Given the description of an element on the screen output the (x, y) to click on. 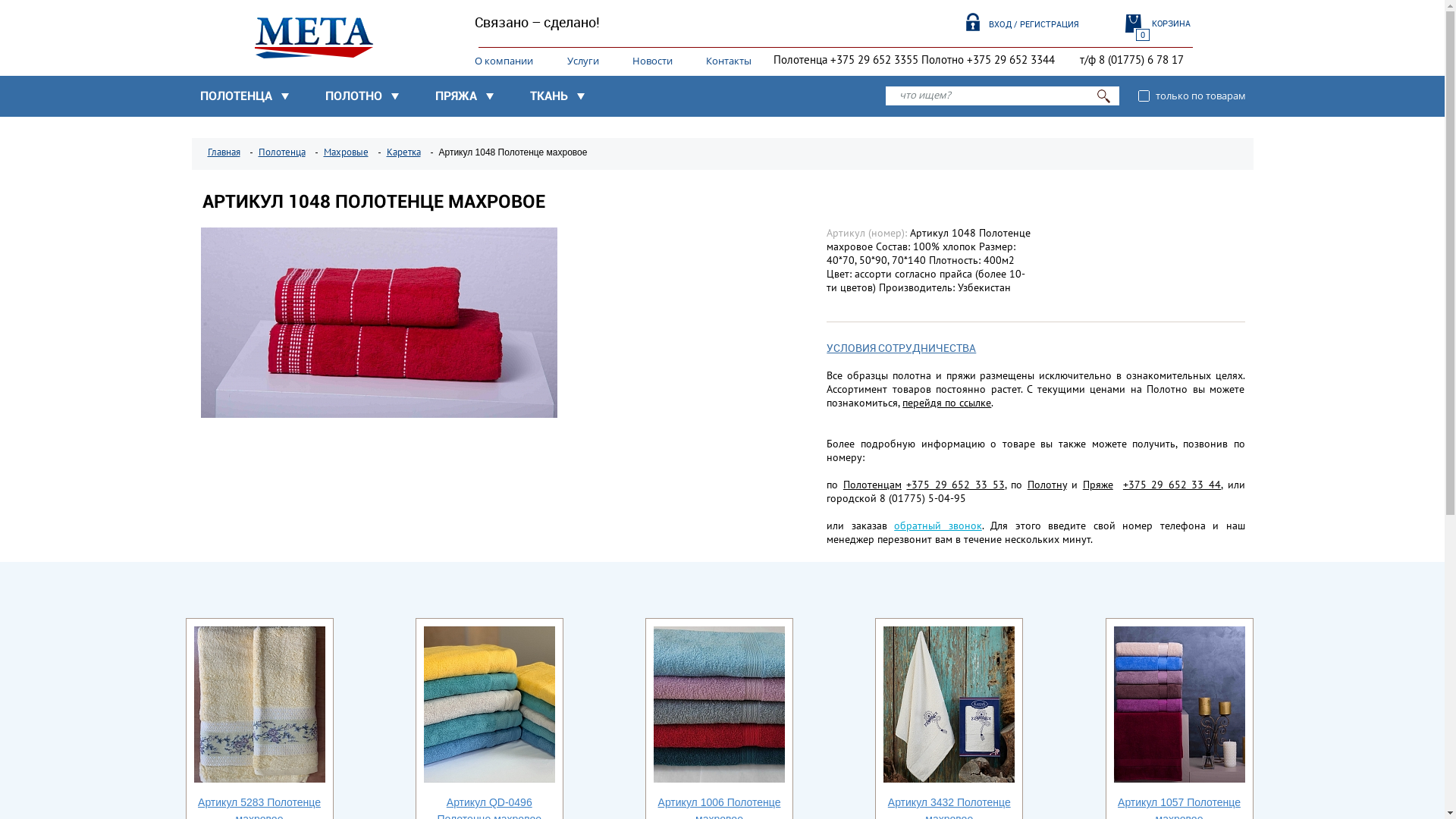
+375 29 652 33 44 Element type: text (1171, 484)
+375 29 652 33 53 Element type: text (955, 484)
